Given the description of an element on the screen output the (x, y) to click on. 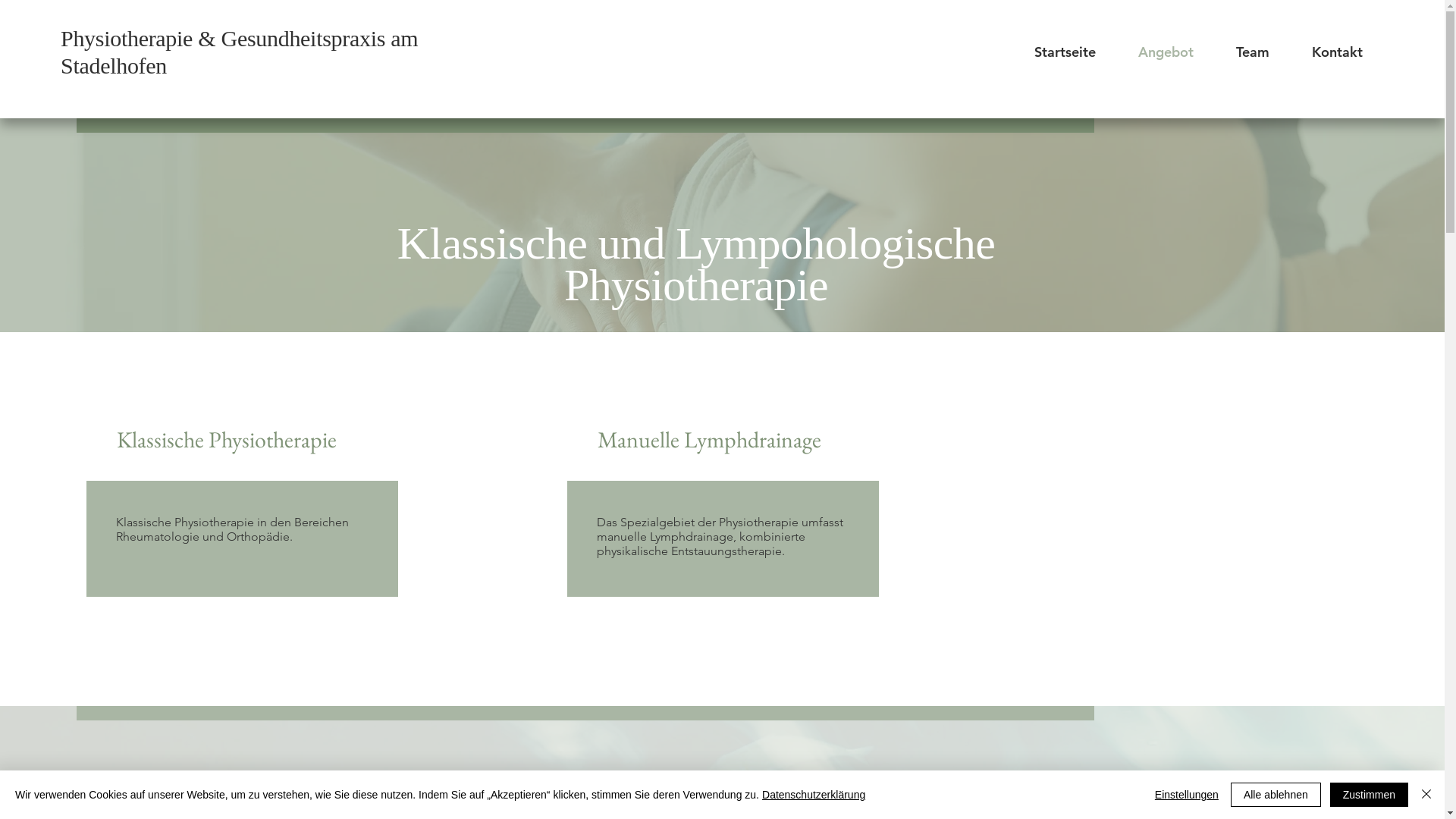
Kontakt Element type: text (1336, 52)
Zustimmen Element type: text (1369, 794)
Startseite Element type: text (1064, 52)
Team Element type: text (1252, 52)
Angebot Element type: text (1165, 52)
Alle ablehnen Element type: text (1275, 794)
Physiotherapie & Gesundheitspraxis am Stadelhofen Element type: text (238, 51)
